Given the description of an element on the screen output the (x, y) to click on. 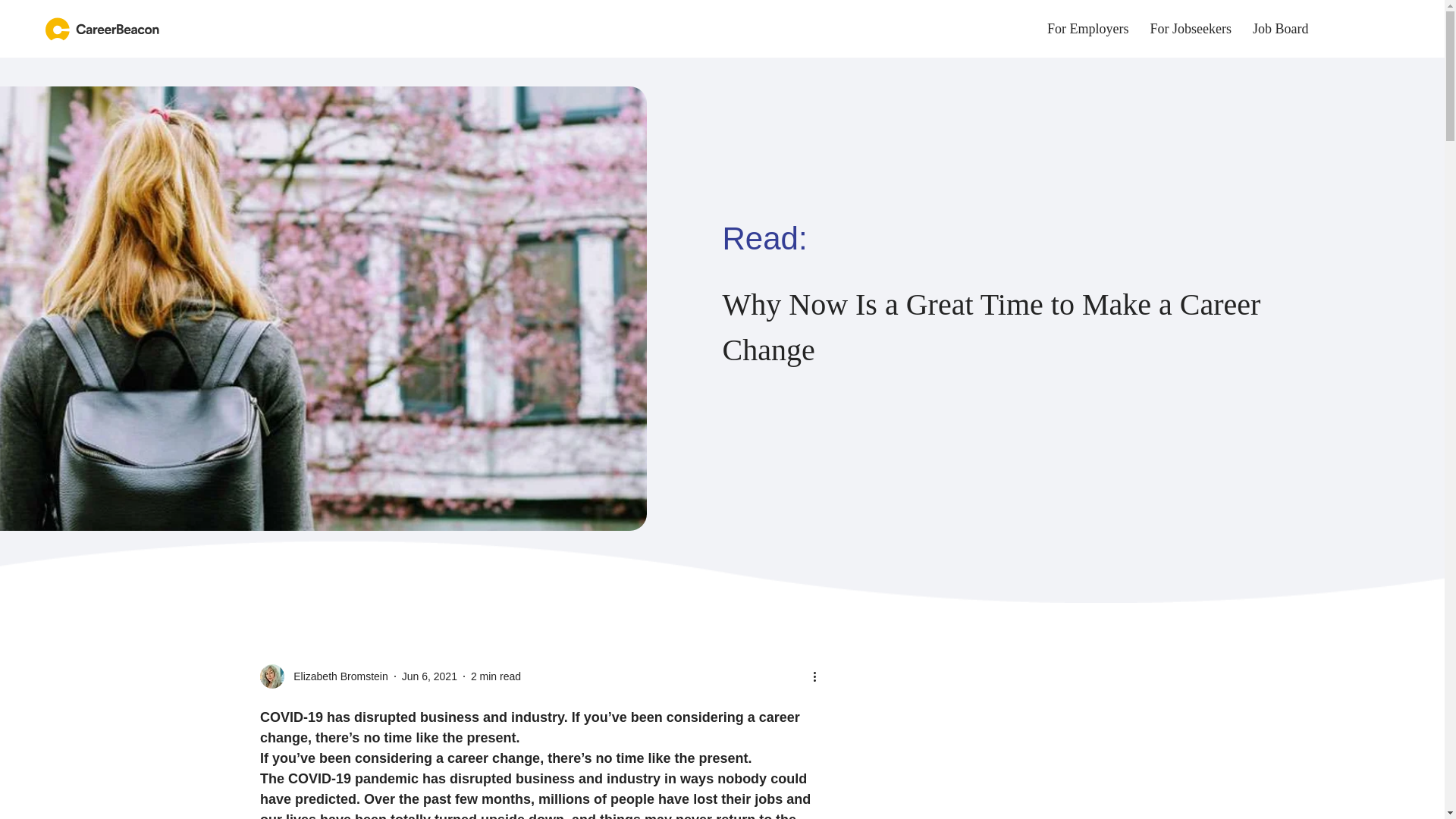
Job Board (1280, 28)
Elizabeth Bromstein (335, 676)
Jun 6, 2021 (429, 676)
2 min read (1022, 28)
